Given the description of an element on the screen output the (x, y) to click on. 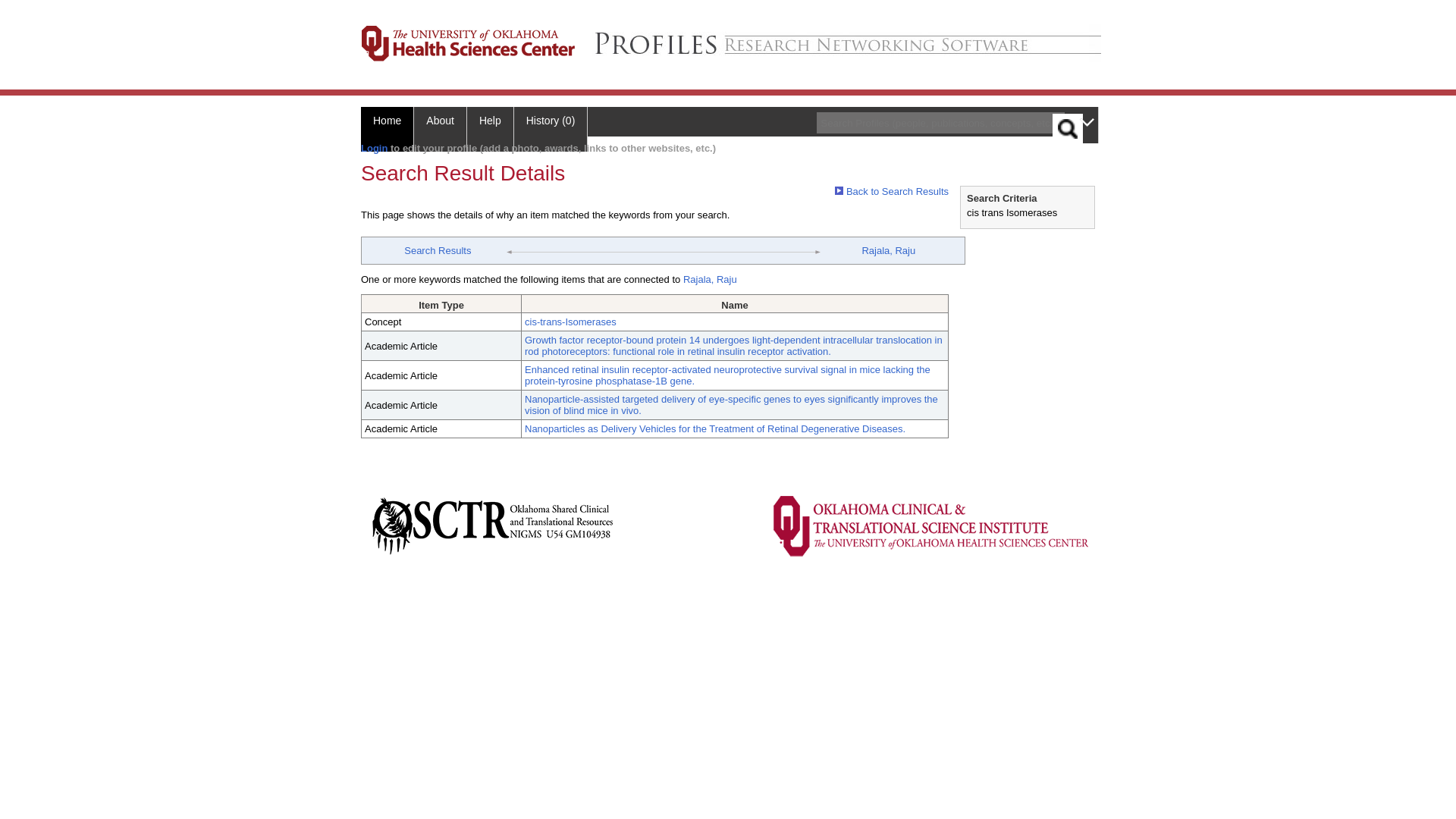
Login (374, 147)
cis-trans-Isomerases (569, 321)
Back to Search Results (891, 191)
About (440, 129)
Search Results (437, 250)
Help (490, 129)
Rajala, Raju (888, 250)
Rajala, Raju (709, 279)
Home (387, 129)
